Given the description of an element on the screen output the (x, y) to click on. 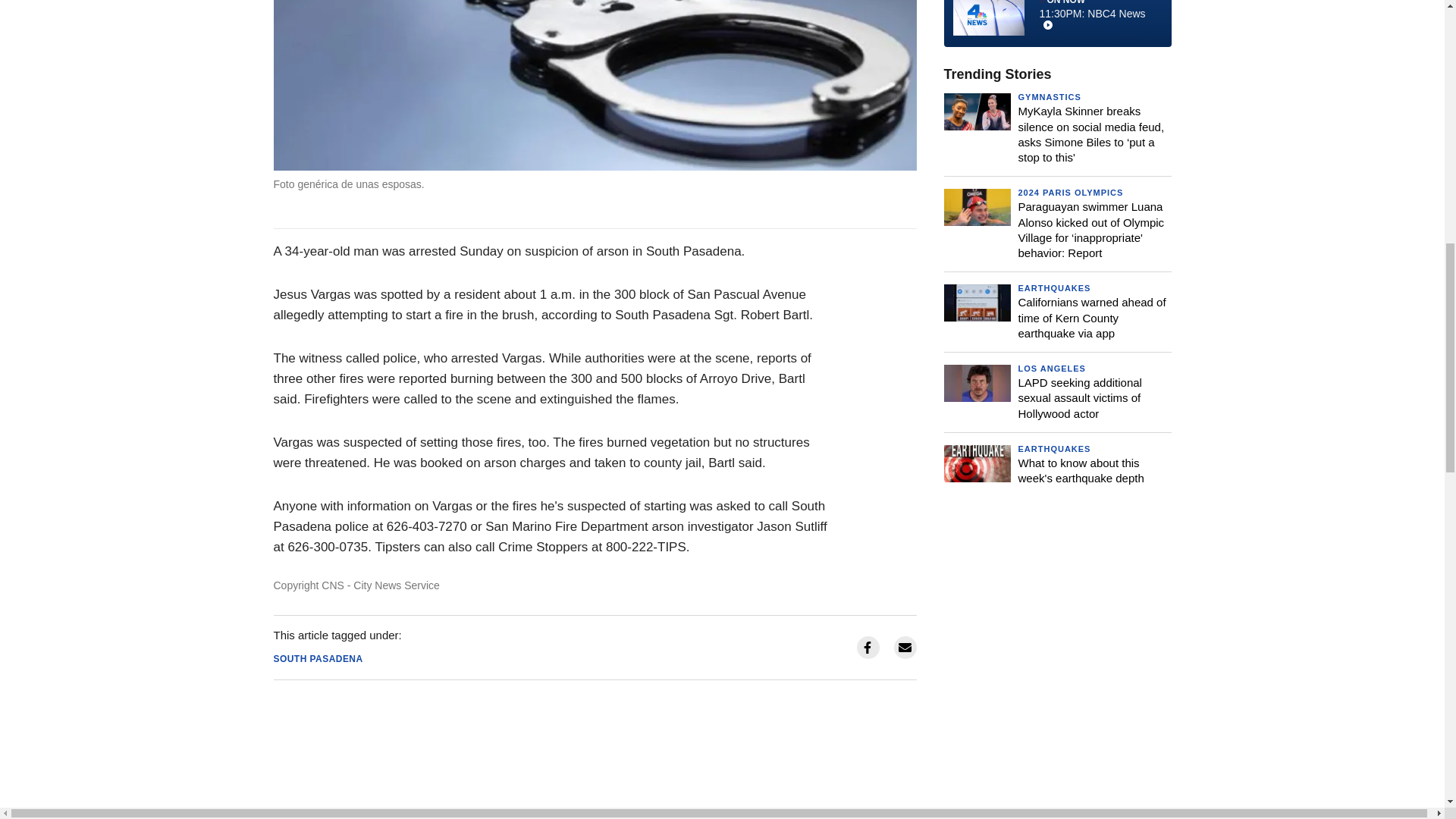
2024 PARIS OLYMPICS (1069, 192)
SOUTH PASADENA (317, 658)
GYMNASTICS (1048, 96)
